Given the description of an element on the screen output the (x, y) to click on. 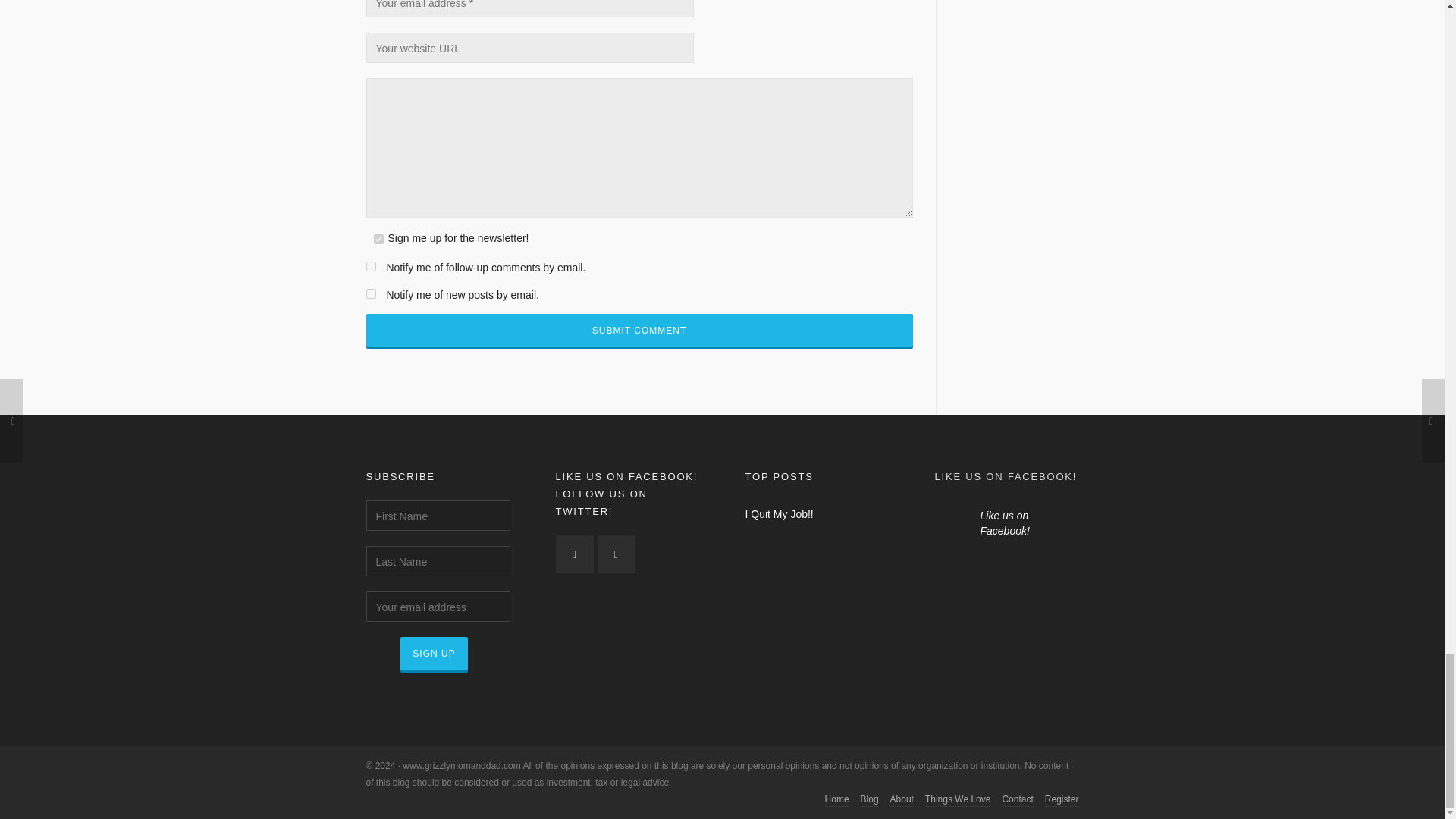
Submit Comment (638, 330)
subscribe (370, 266)
1 (377, 239)
subscribe (370, 293)
Sign up (433, 653)
